Given the description of an element on the screen output the (x, y) to click on. 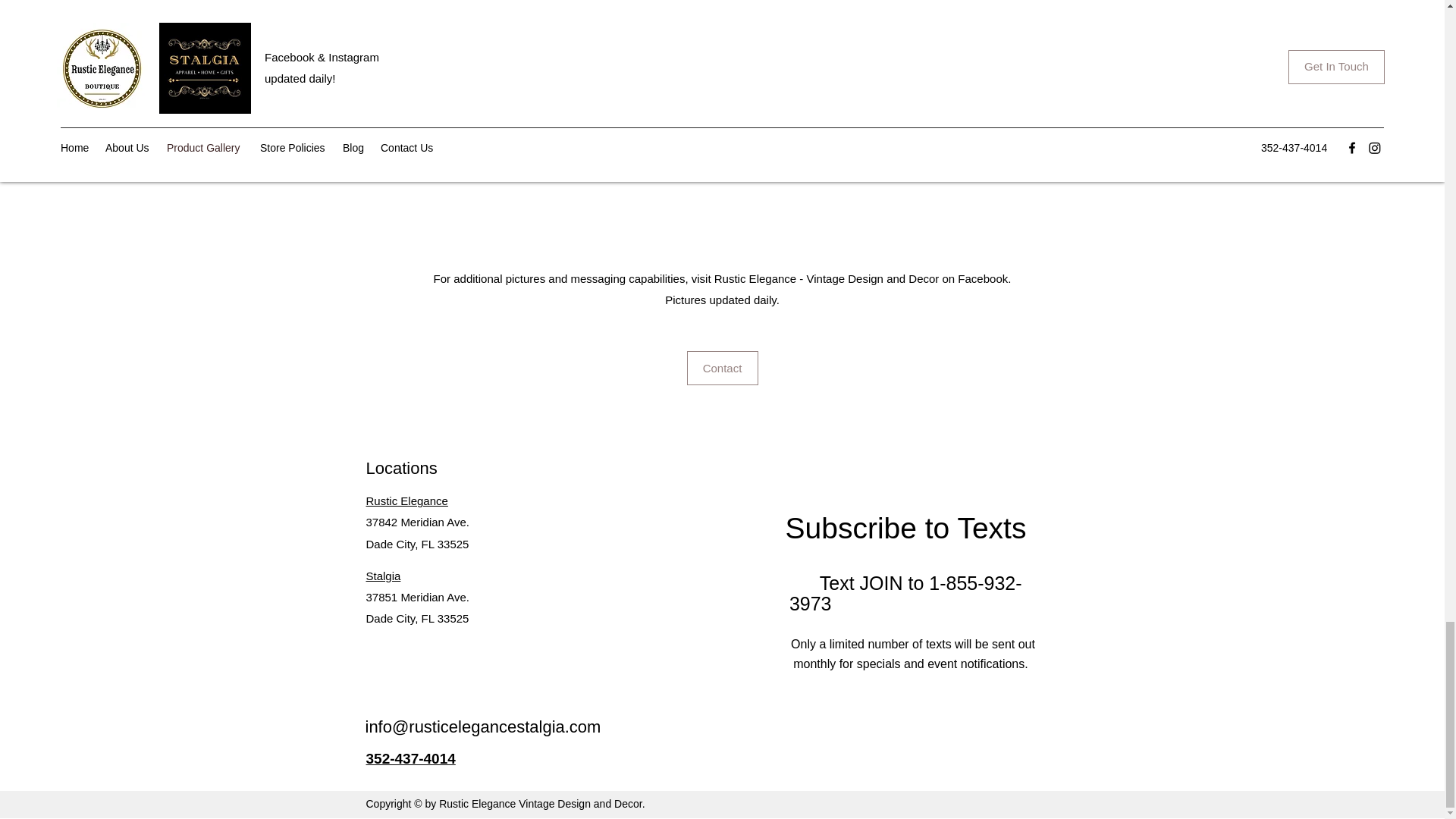
Contact (722, 367)
Locations (400, 467)
352-437-4014 (409, 758)
